Given the description of an element on the screen output the (x, y) to click on. 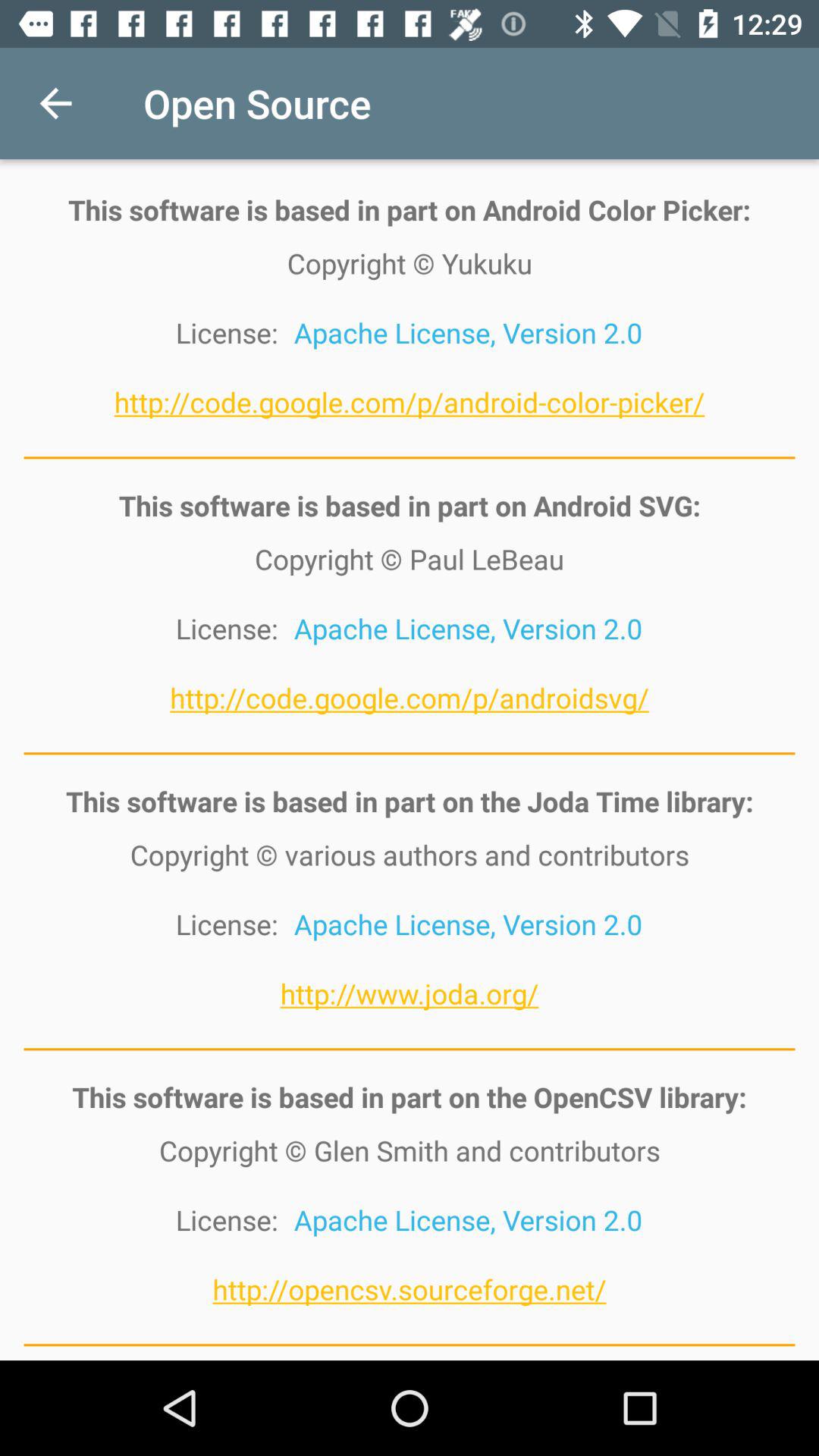
launch the icon next to open source (55, 103)
